Given the description of an element on the screen output the (x, y) to click on. 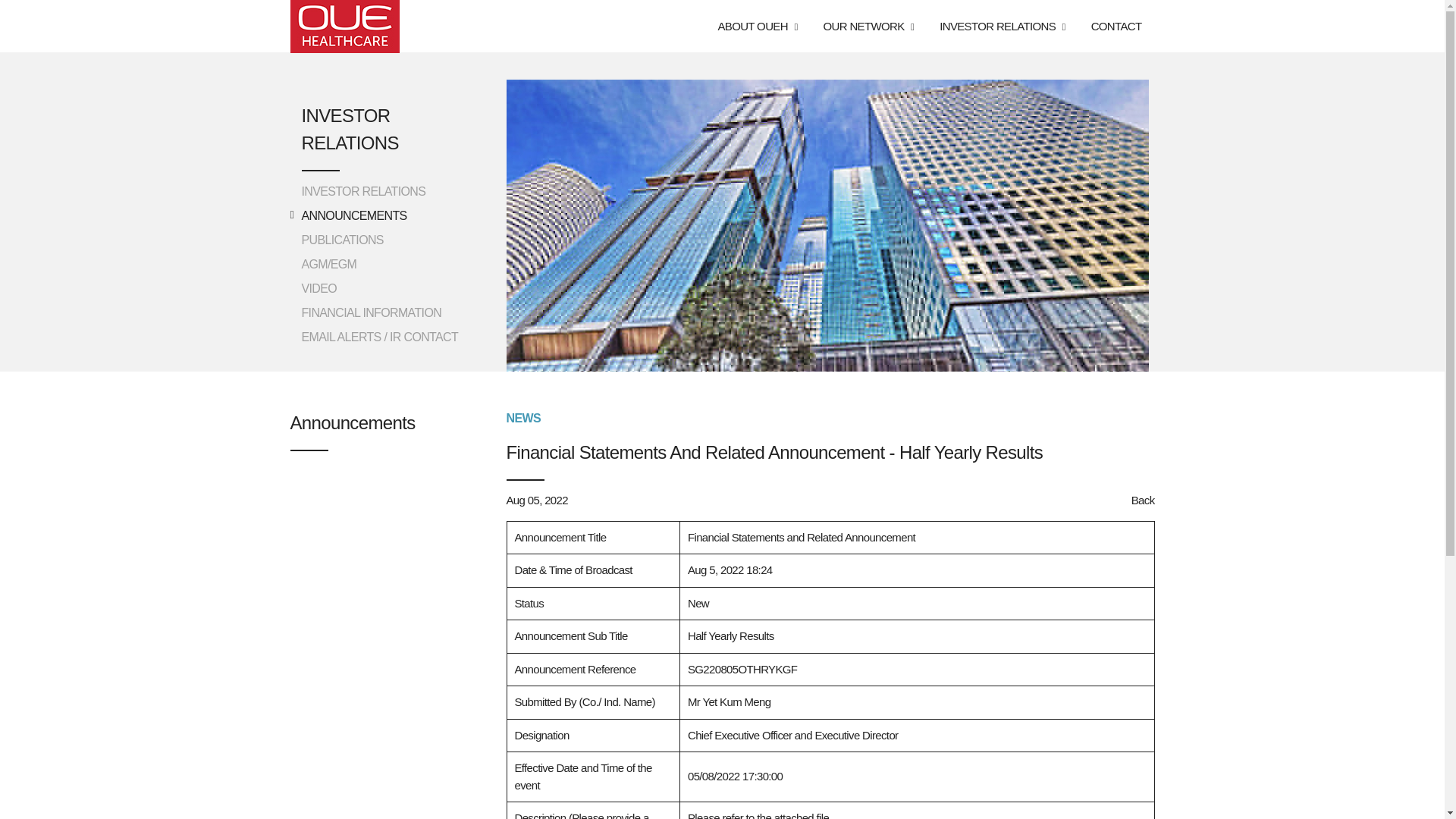
INVESTOR RELATIONS (363, 191)
OUR NETWORK (868, 12)
INVESTOR RELATIONS (1001, 22)
Back (1142, 499)
PUBLICATIONS (342, 239)
ABOUT OUEH (756, 2)
CONTACT (1116, 26)
ANNOUNCEMENTS (354, 215)
FINANCIAL INFORMATION (371, 312)
VIDEO (319, 287)
